Given the description of an element on the screen output the (x, y) to click on. 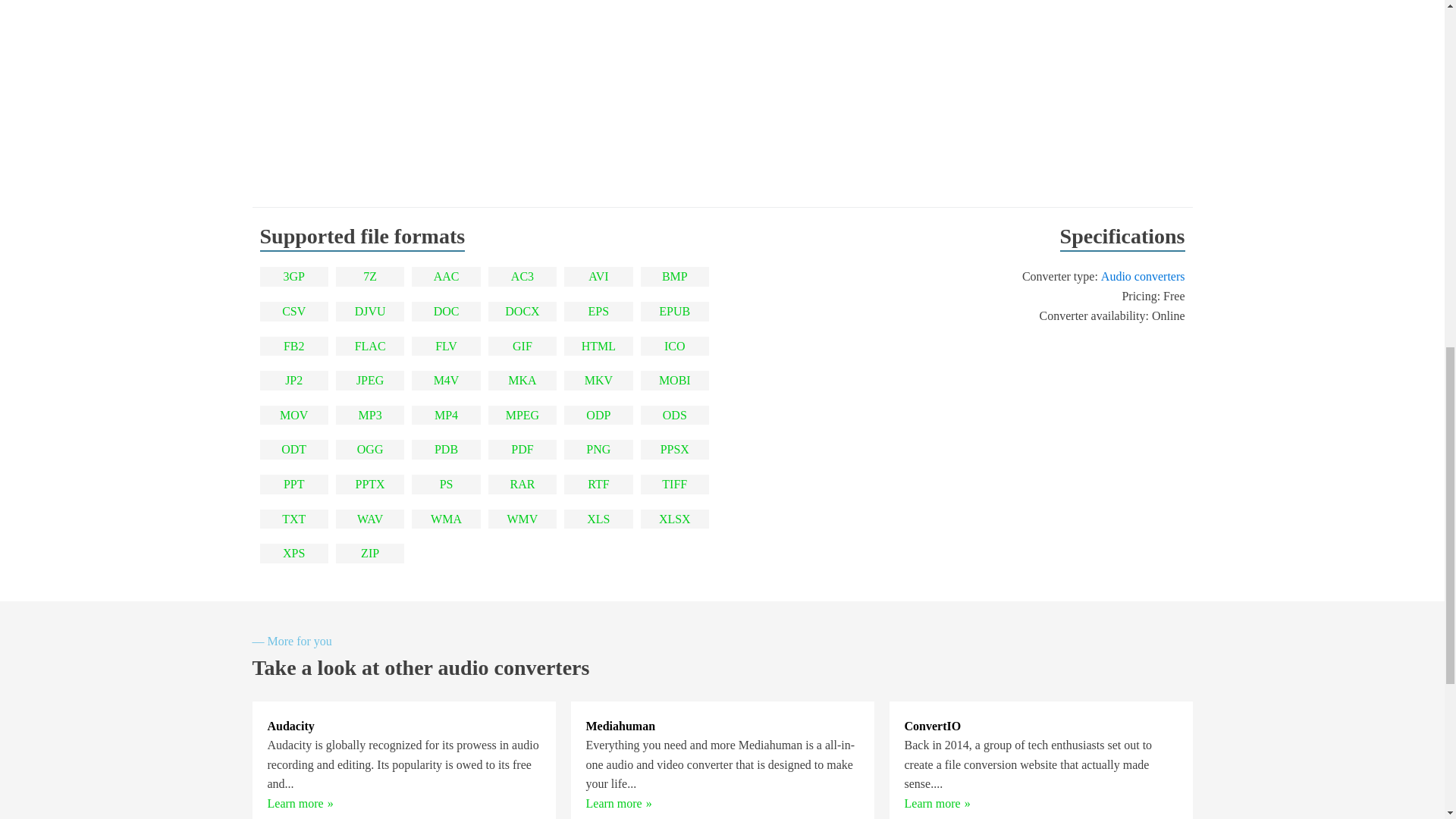
3GP (293, 276)
ICO (674, 346)
EPS (599, 311)
AC3 (522, 276)
FLAC (370, 346)
DOC (446, 311)
FLV (446, 346)
DOCX (521, 311)
AVI (598, 276)
FB2 (293, 346)
